Given the description of an element on the screen output the (x, y) to click on. 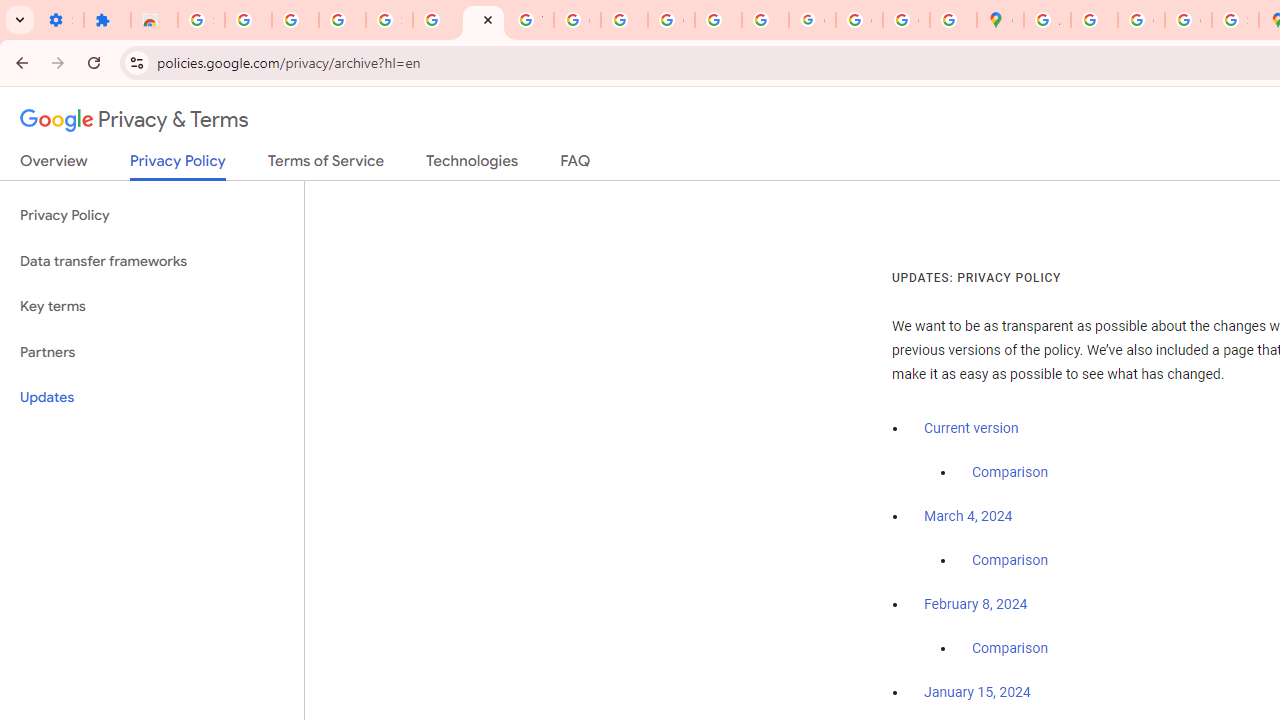
March 4, 2024 (968, 517)
Google Maps (999, 20)
Delete photos & videos - Computer - Google Photos Help (248, 20)
January 15, 2024 (977, 693)
Comparison (1009, 649)
https://scholar.google.com/ (623, 20)
